Given the description of an element on the screen output the (x, y) to click on. 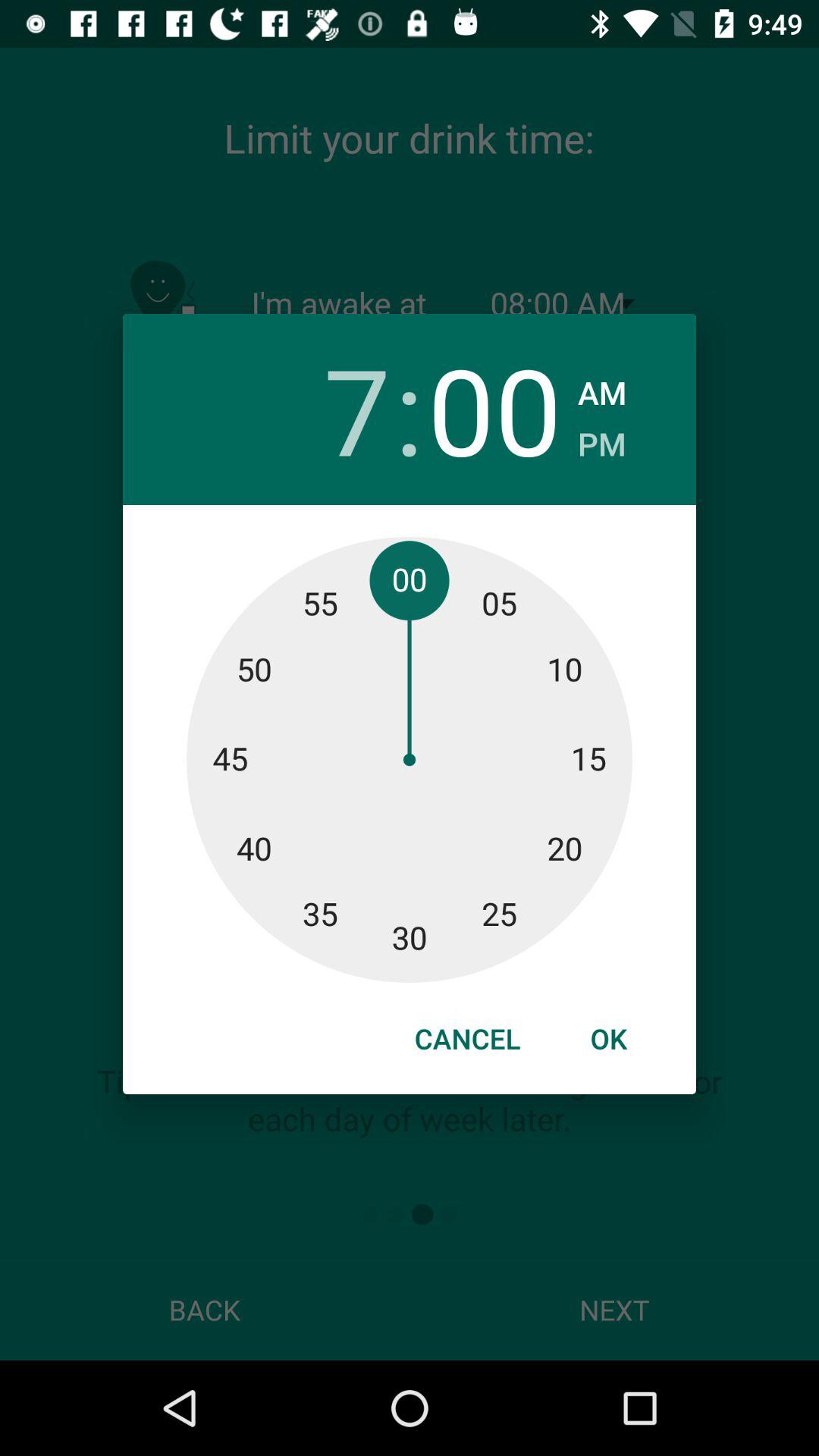
click the item below am icon (601, 439)
